Given the description of an element on the screen output the (x, y) to click on. 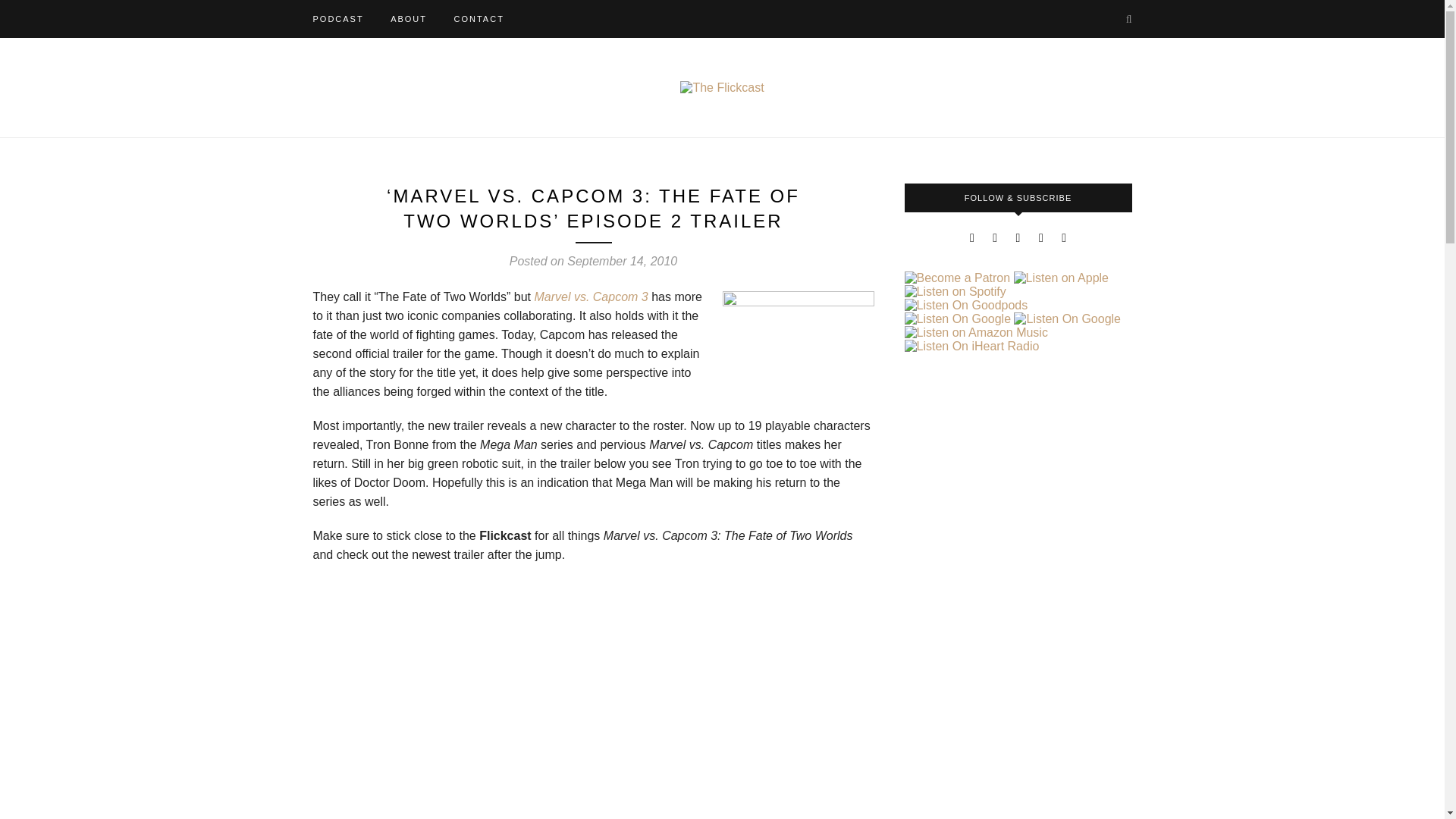
CONTACT (477, 18)
ABOUT (408, 18)
PODCAST (337, 18)
Marvel vs. Capcom 3 (592, 296)
Marvel vs Capcom 3 Logo (797, 342)
